Given the description of an element on the screen output the (x, y) to click on. 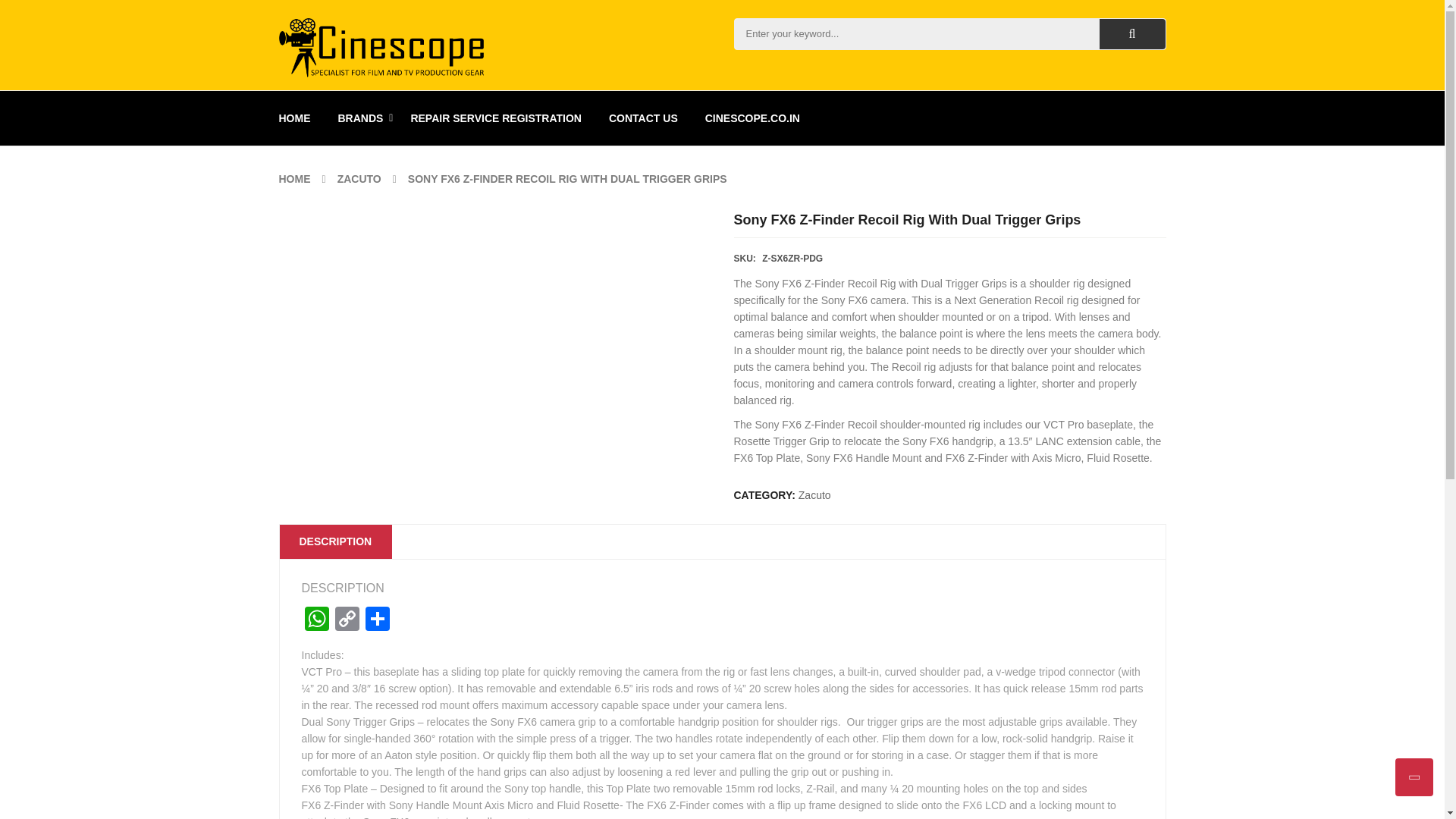
REPAIR SERVICE REGISTRATION (495, 117)
HOME (295, 178)
Copy Link (346, 620)
ZACUTO (359, 178)
DESCRIPTION (335, 541)
Search (1132, 33)
CINESCOPE.CO.IN (752, 117)
Zacuto (814, 494)
CONTACT US (643, 117)
